Given the description of an element on the screen output the (x, y) to click on. 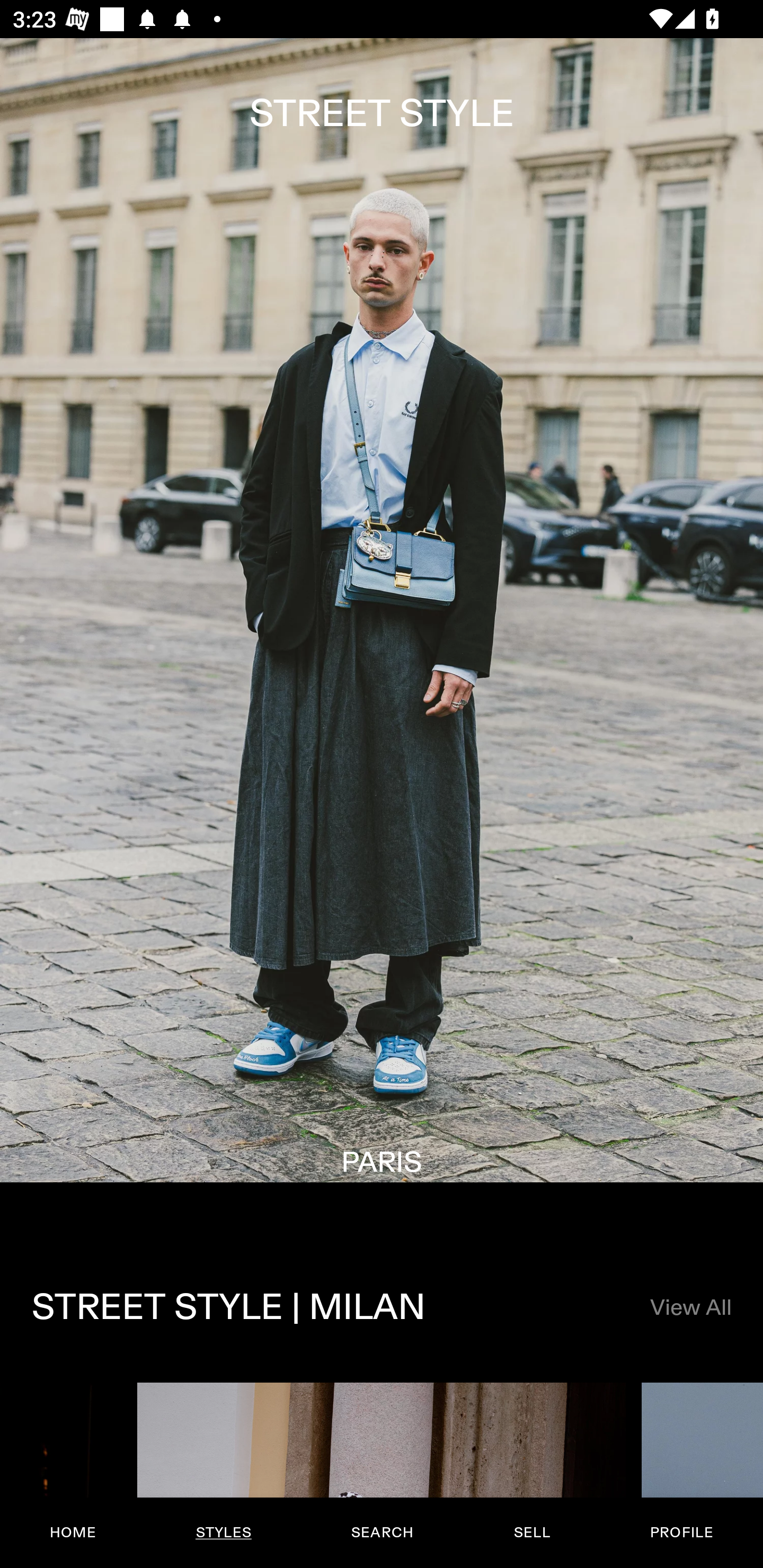
View All (690, 1308)
HOME (72, 1532)
STYLES (222, 1532)
SEARCH (381, 1532)
SELL (531, 1532)
PROFILE (681, 1532)
